Given the description of an element on the screen output the (x, y) to click on. 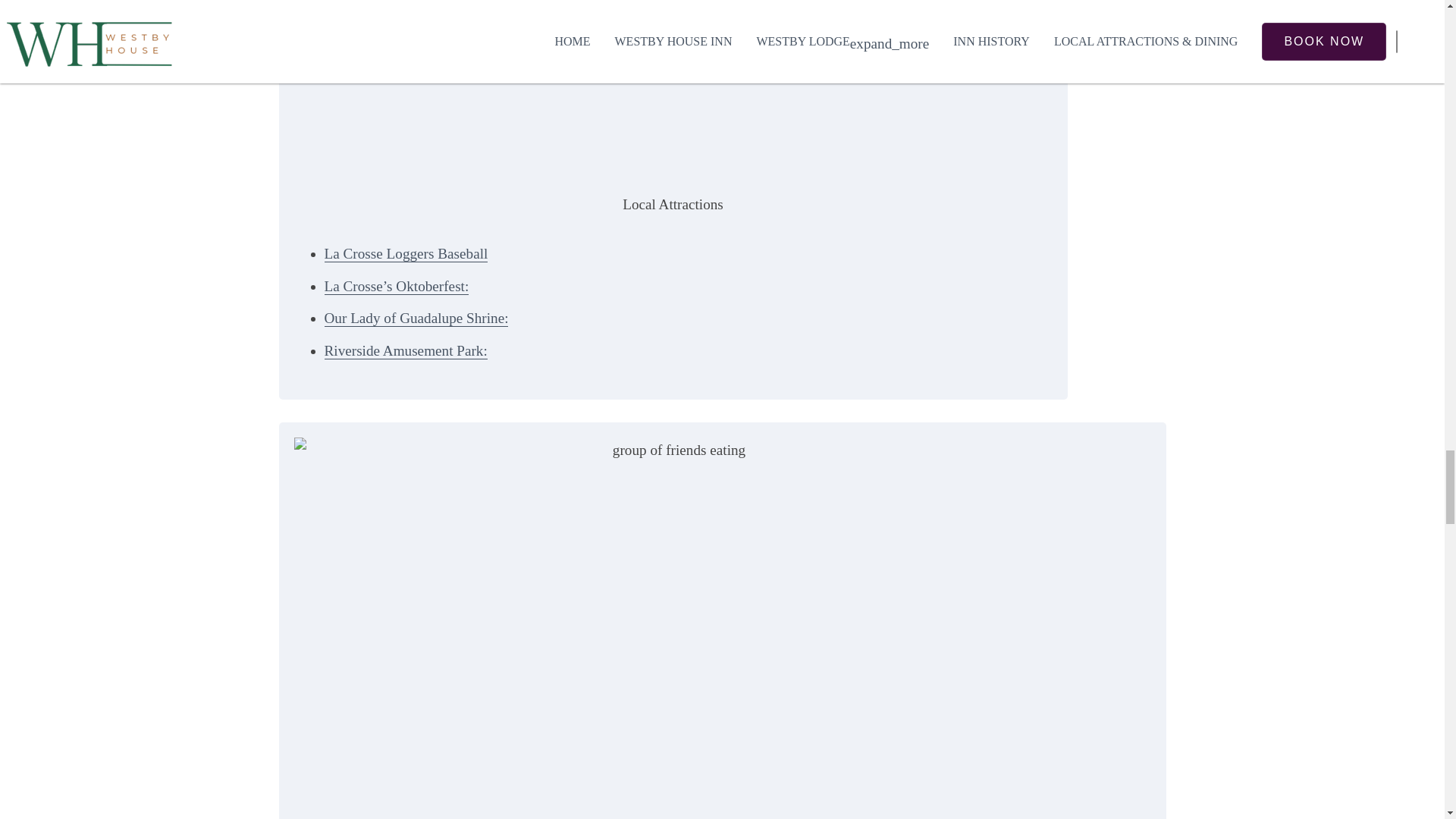
Our Lady of Guadalupe Shrine: (416, 318)
Riverside Amusement Park: (405, 351)
La Crosse Loggers Baseball (405, 253)
